Given the description of an element on the screen output the (x, y) to click on. 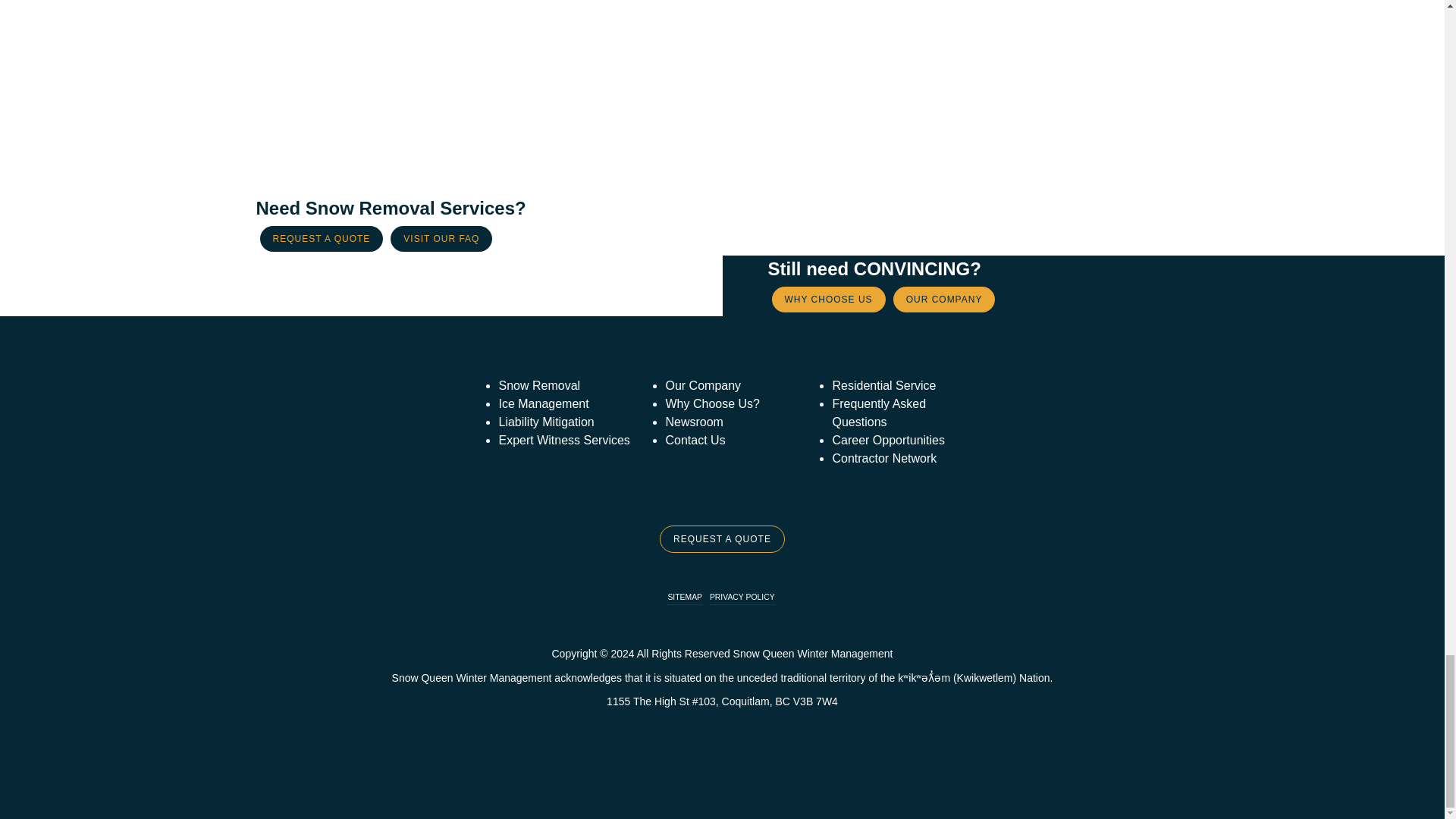
WHY CHOOSE US (828, 299)
VISIT OUR FAQ (441, 238)
OUR COMPANY (944, 299)
REQUEST A QUOTE (320, 238)
Snow Removal (538, 385)
